Given the description of an element on the screen output the (x, y) to click on. 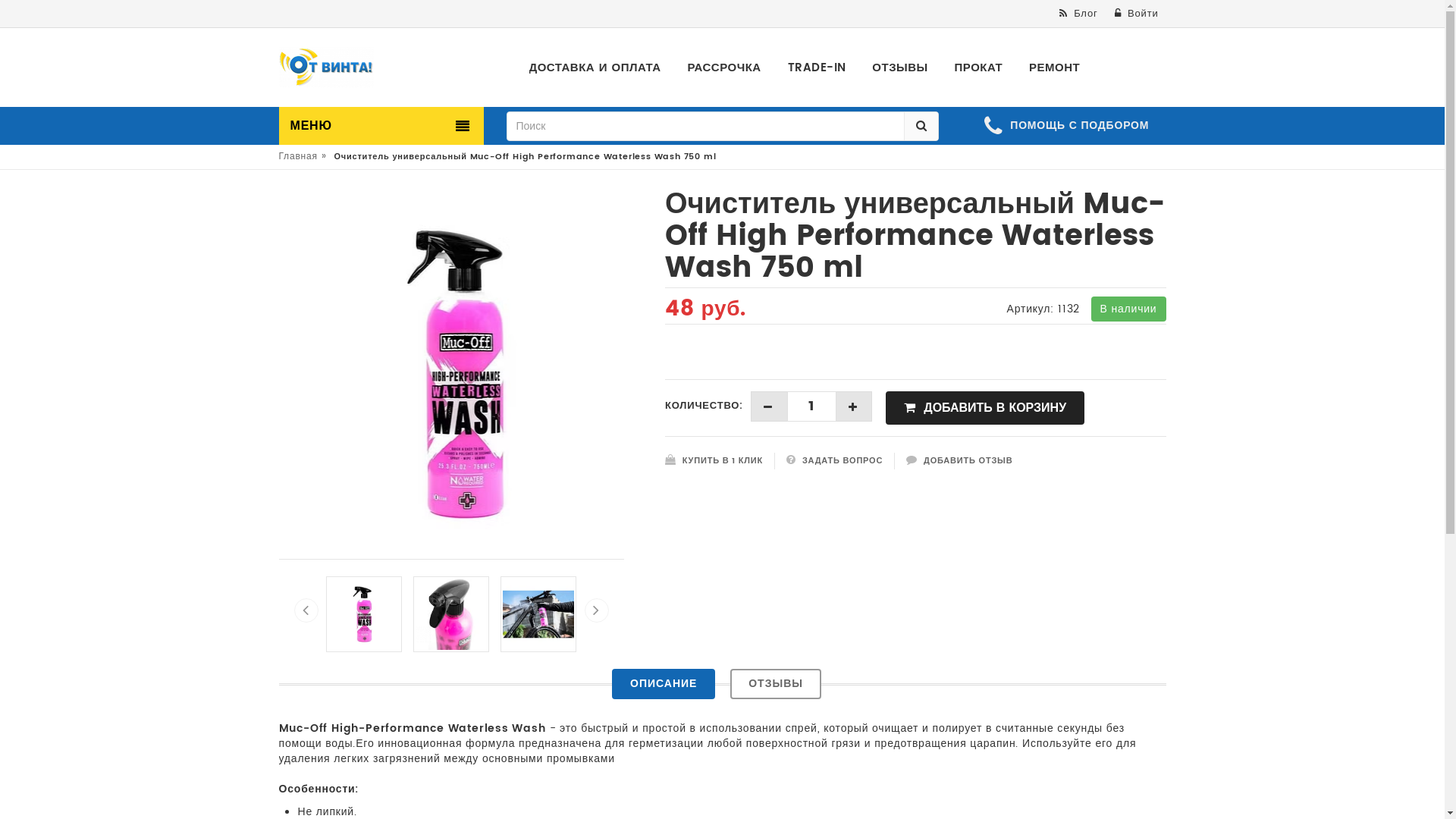
  Element type: text (854, 406)
  Element type: text (768, 406)
TRADE-IN Element type: text (816, 67)
